Given the description of an element on the screen output the (x, y) to click on. 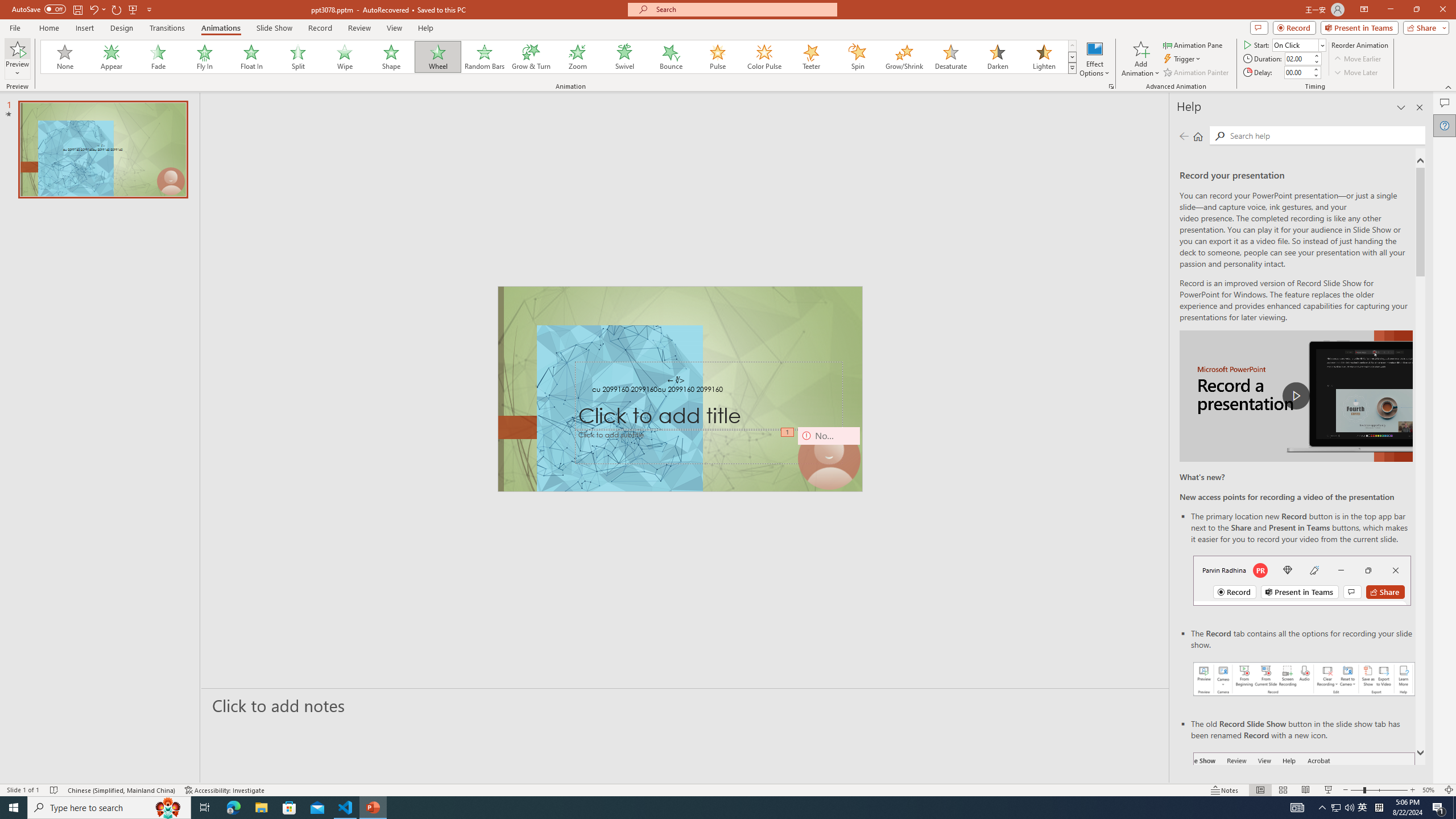
Add Animation (1141, 58)
Fade (158, 56)
Pulse (717, 56)
Effect Options (1094, 58)
Fly In (205, 56)
Animation Duration (1298, 58)
